Given the description of an element on the screen output the (x, y) to click on. 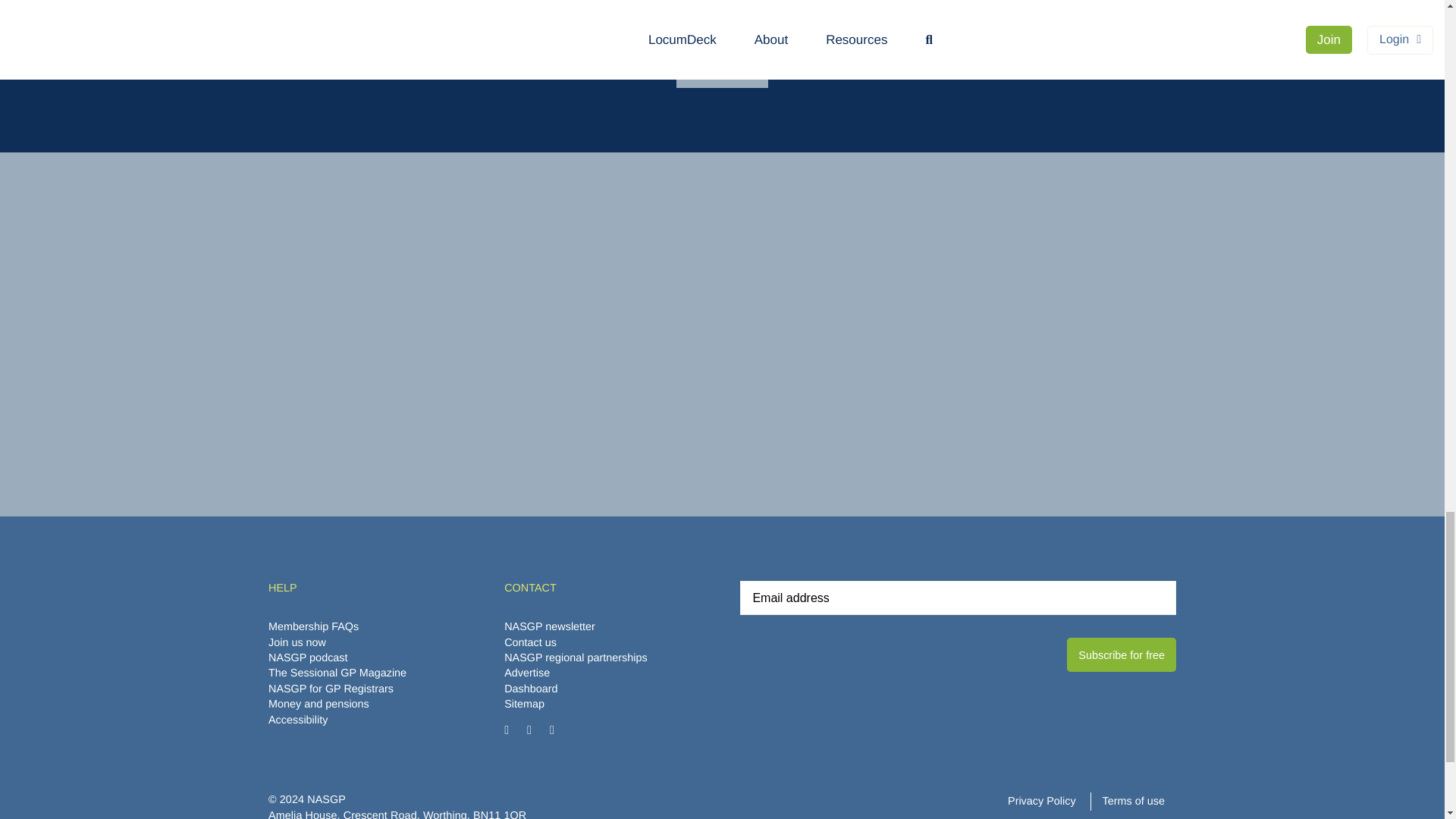
Subscribe for free (1121, 654)
